Given the description of an element on the screen output the (x, y) to click on. 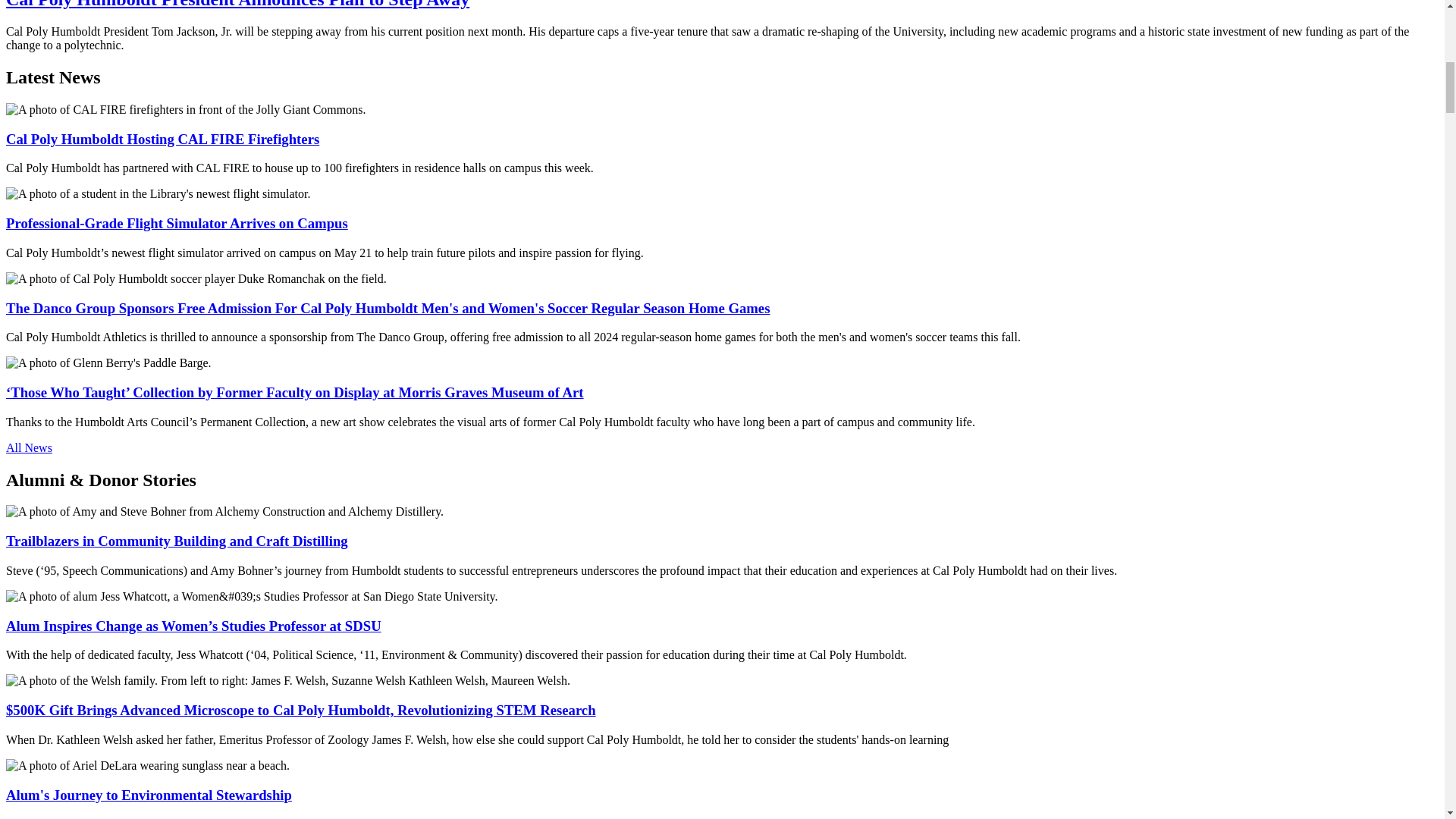
Cal Poly Humboldt President Announces Plan to Step Away (236, 4)
Professional-Grade Flight Simulator Arrives on Campus (176, 222)
Alum's Journey to Environmental Stewardship (148, 795)
All News (28, 447)
Trailblazers in Community Building and Craft Distilling (176, 540)
Cal Poly Humboldt Hosting CAL FIRE Firefighters (161, 139)
